Given the description of an element on the screen output the (x, y) to click on. 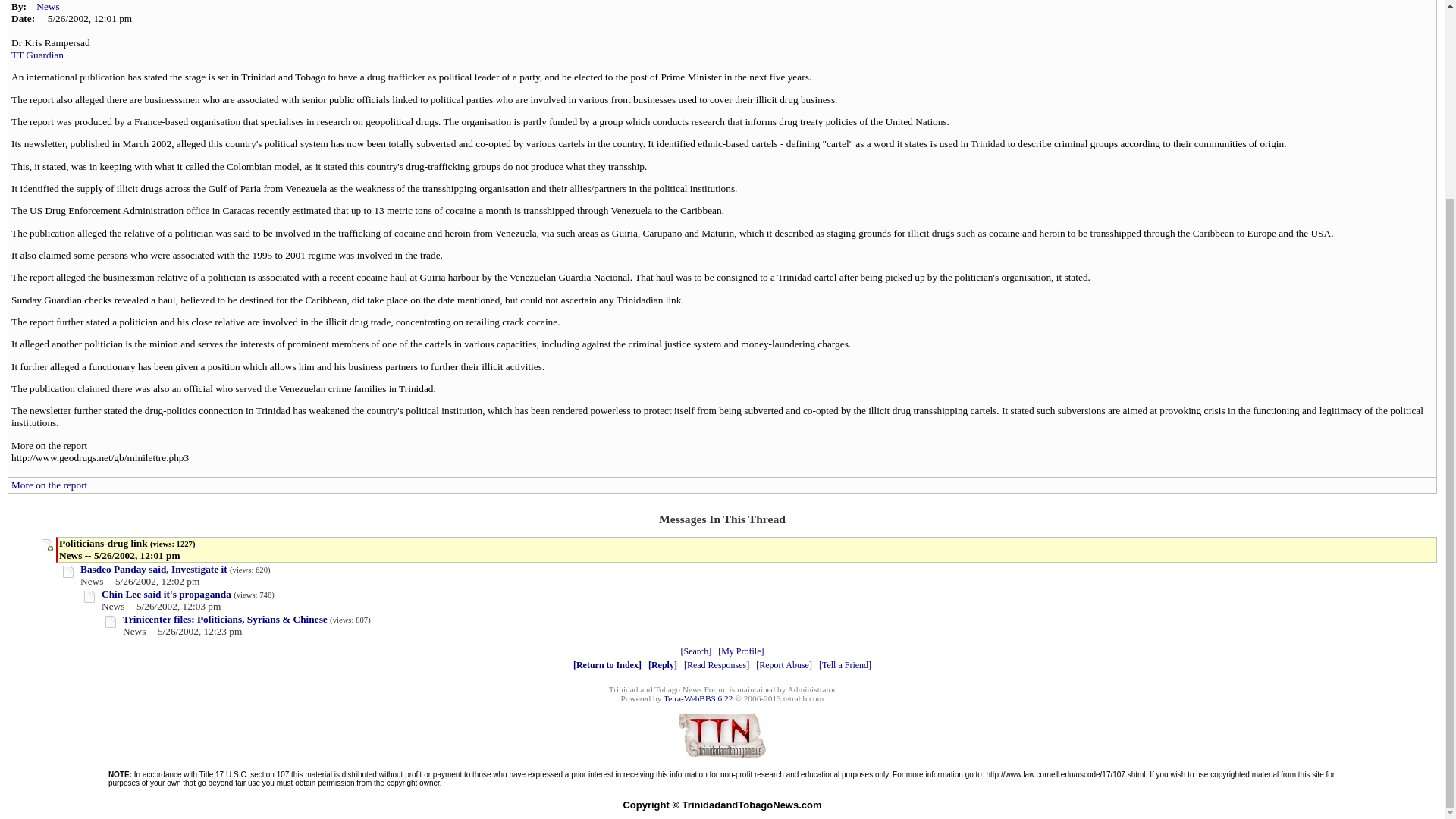
TT Guardian (37, 54)
Report Abuse (783, 665)
Tell a Friend (844, 665)
Read Responses (716, 665)
Search (696, 651)
Return to Index (607, 665)
Chin Lee said it's propaganda (166, 593)
Tetra-WebBBS 6.22 (697, 697)
Reply (662, 665)
More on the report (49, 484)
Basdeo Panday said, Investigate it (153, 568)
News (47, 6)
My Profile (739, 651)
